Given the description of an element on the screen output the (x, y) to click on. 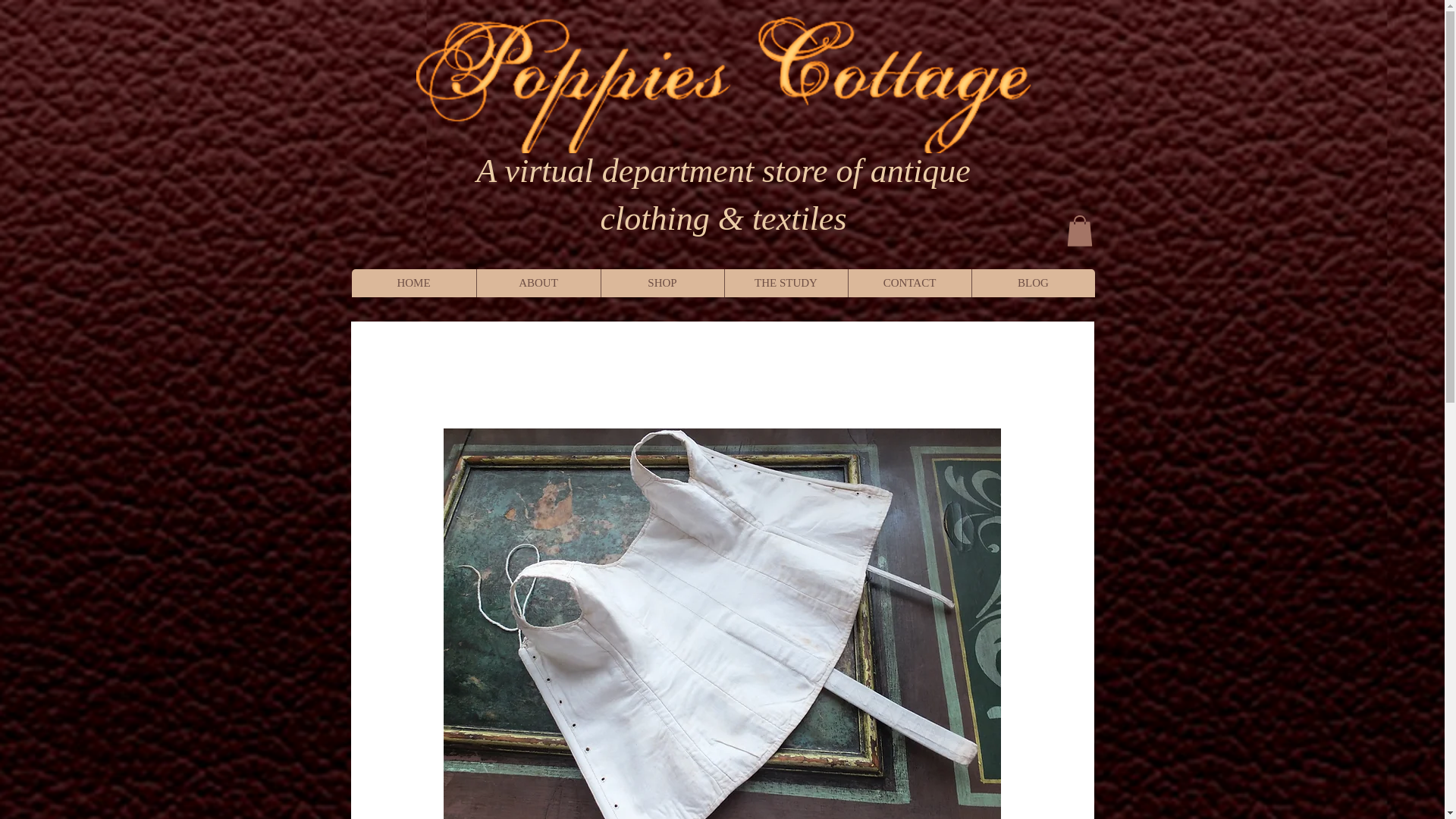
HOME (414, 283)
CONTACT (909, 283)
BLOG (1032, 283)
logo.png (722, 84)
SHOP (661, 283)
THE STUDY (785, 283)
ABOUT (537, 283)
